Given the description of an element on the screen output the (x, y) to click on. 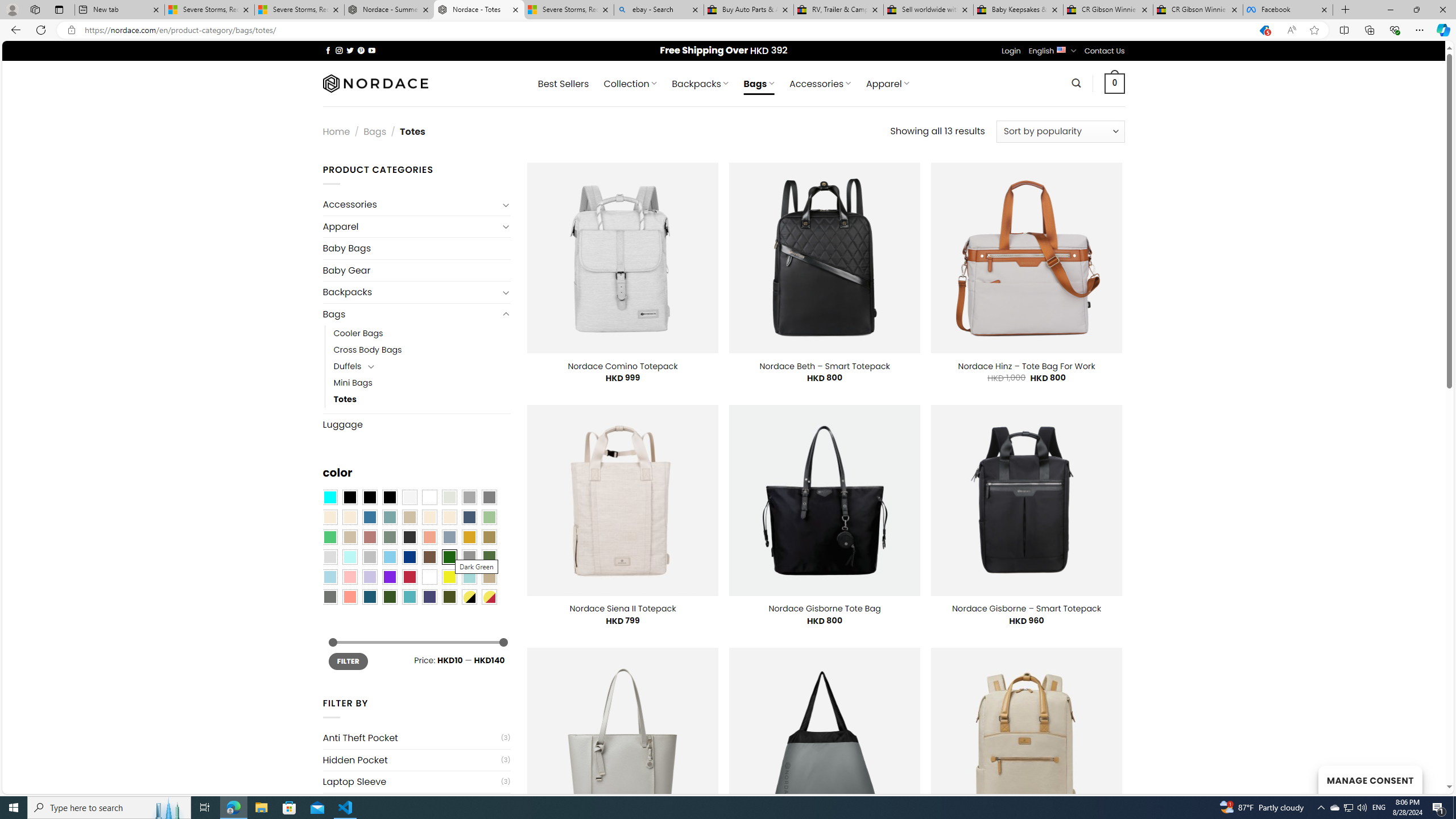
Khaki (488, 577)
Sage (389, 536)
Accessories (410, 204)
Hale Navy (468, 517)
Navy Blue (408, 557)
Gray (468, 557)
Emerald Green (329, 536)
Light Gray (329, 557)
Cross Body Bags (422, 349)
Blue Sage (389, 517)
